Given the description of an element on the screen output the (x, y) to click on. 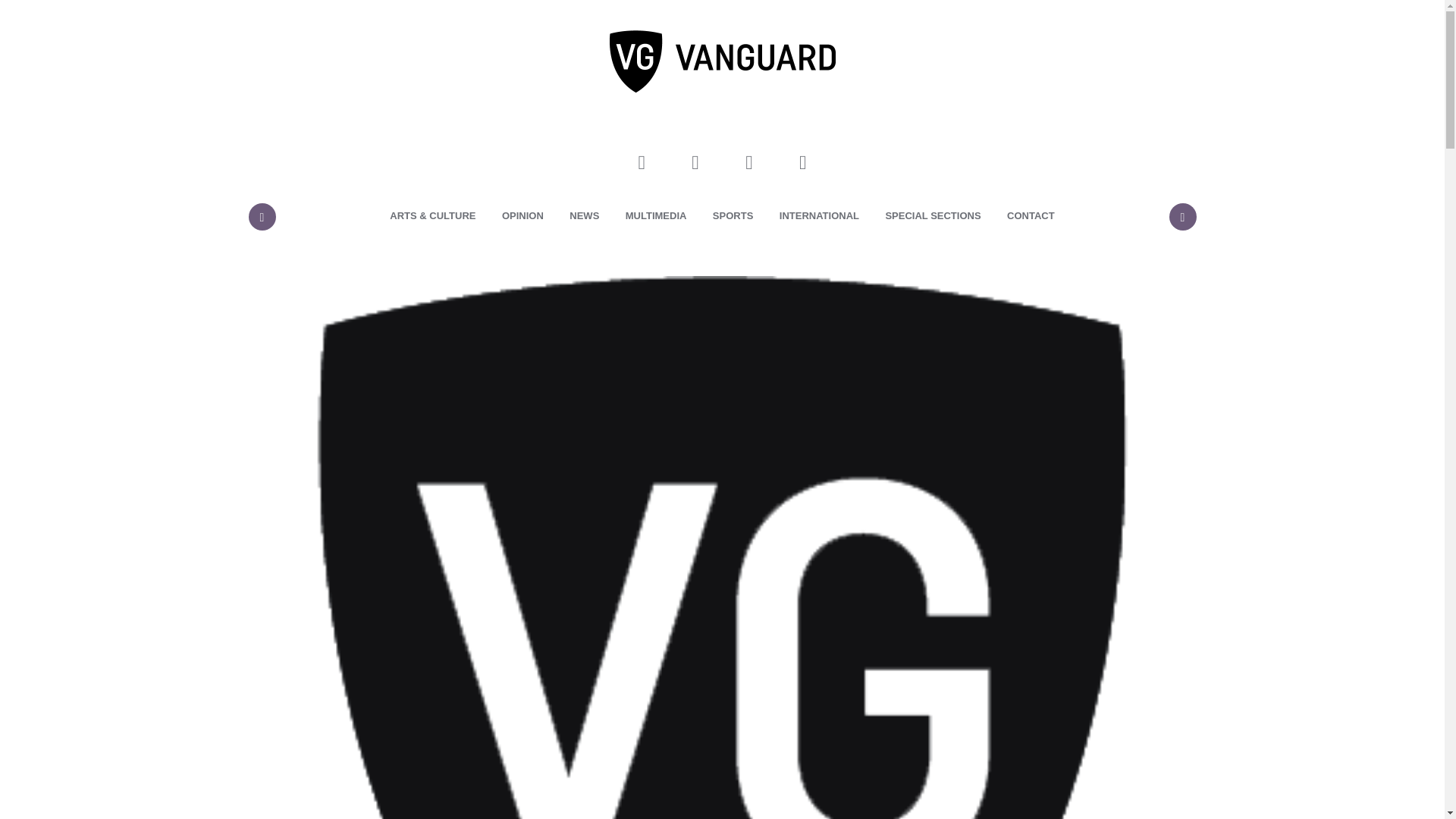
NEWS (583, 215)
CONTACT (1030, 215)
OPINION (522, 215)
SPECIAL SECTIONS (932, 215)
SPORTS (732, 215)
MULTIMEDIA (656, 215)
INTERNATIONAL (819, 215)
